Given the description of an element on the screen output the (x, y) to click on. 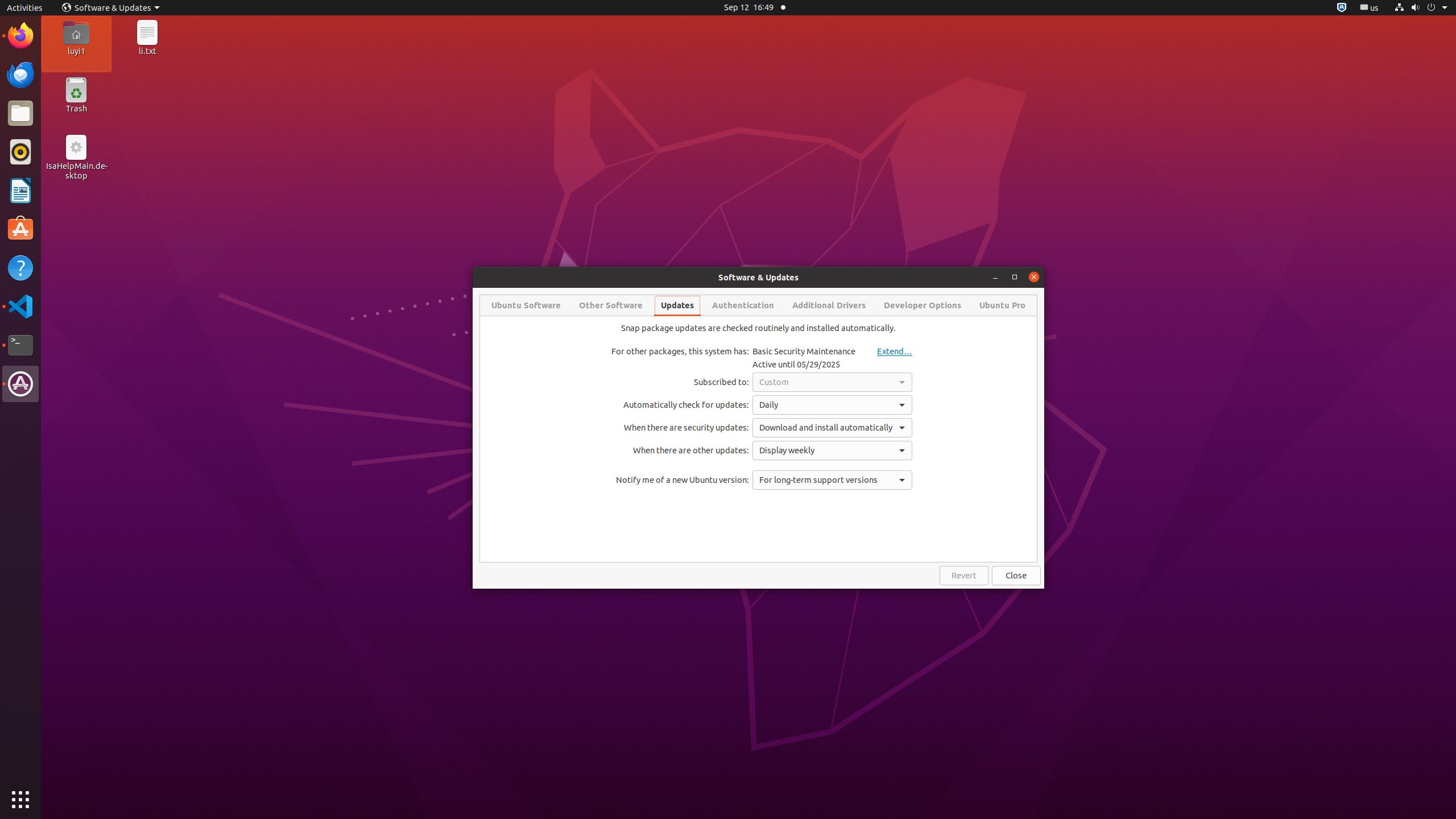
Other Software Element type: page-tab (610, 304)
Automatically check for updates: Element type: label (680, 404)
For long-term support versions Element type: combo-box (832, 479)
